Given the description of an element on the screen output the (x, y) to click on. 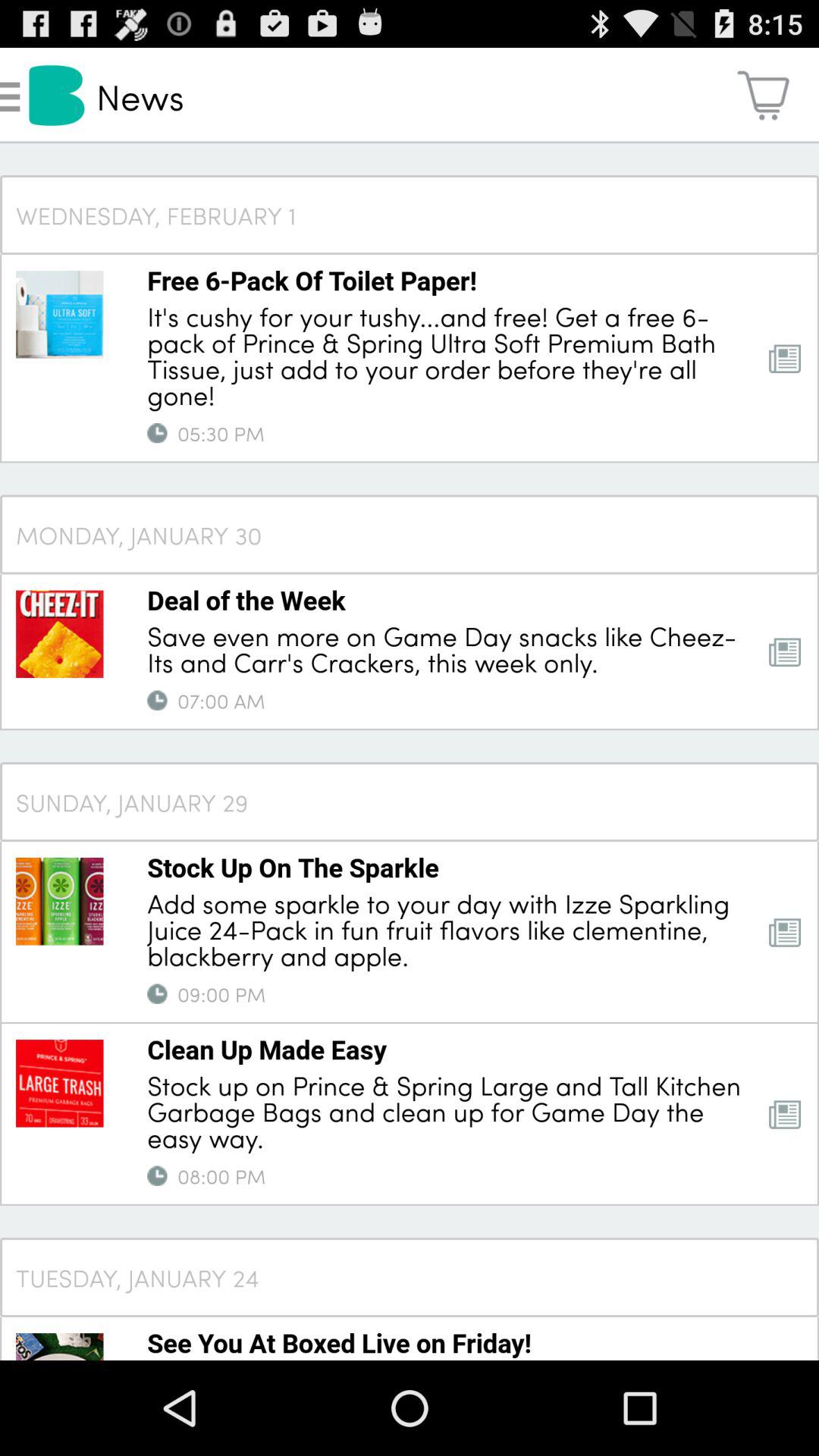
jump to the see you at item (339, 1342)
